Given the description of an element on the screen output the (x, y) to click on. 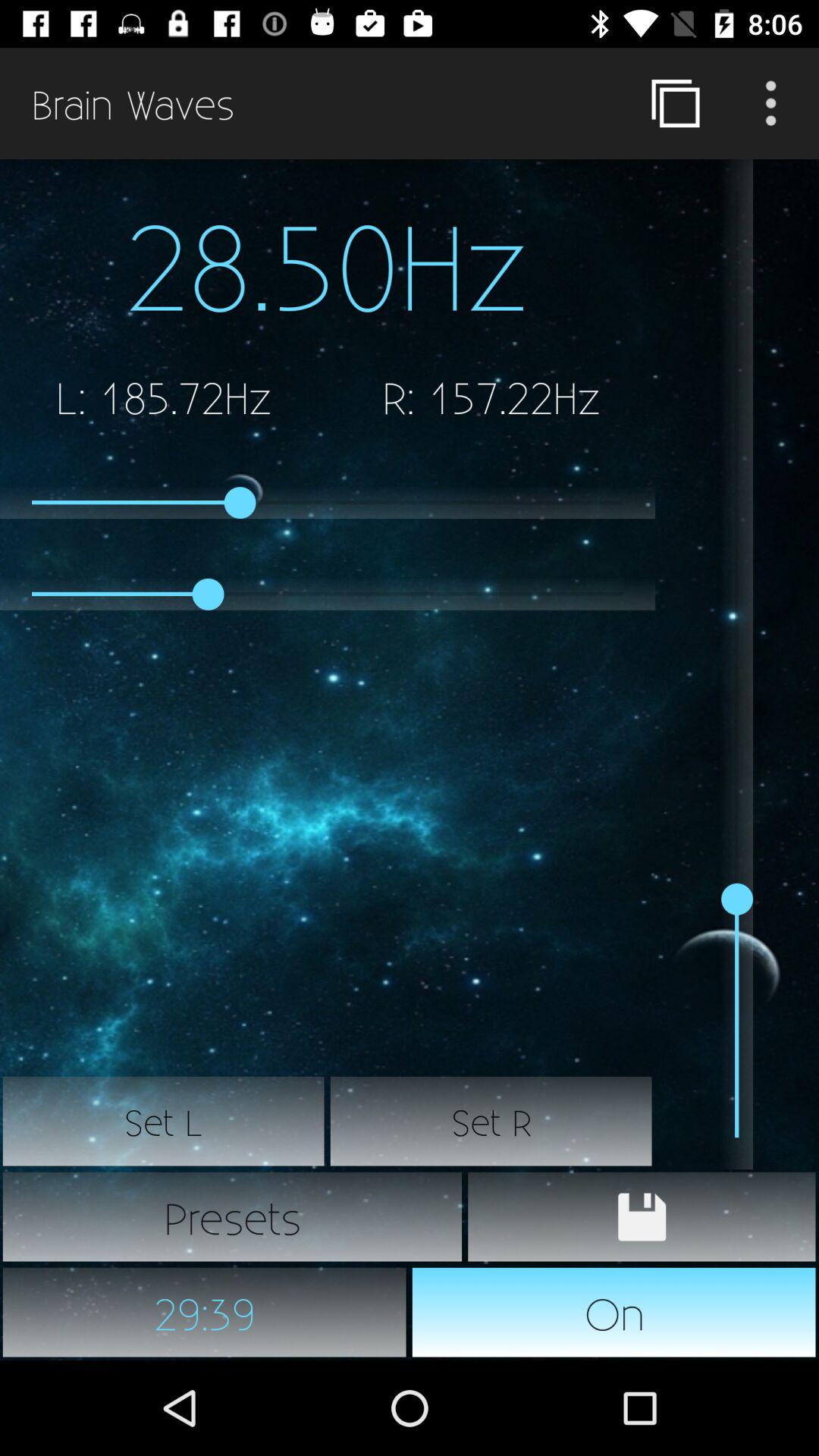
open item below the set l icon (232, 1216)
